Given the description of an element on the screen output the (x, y) to click on. 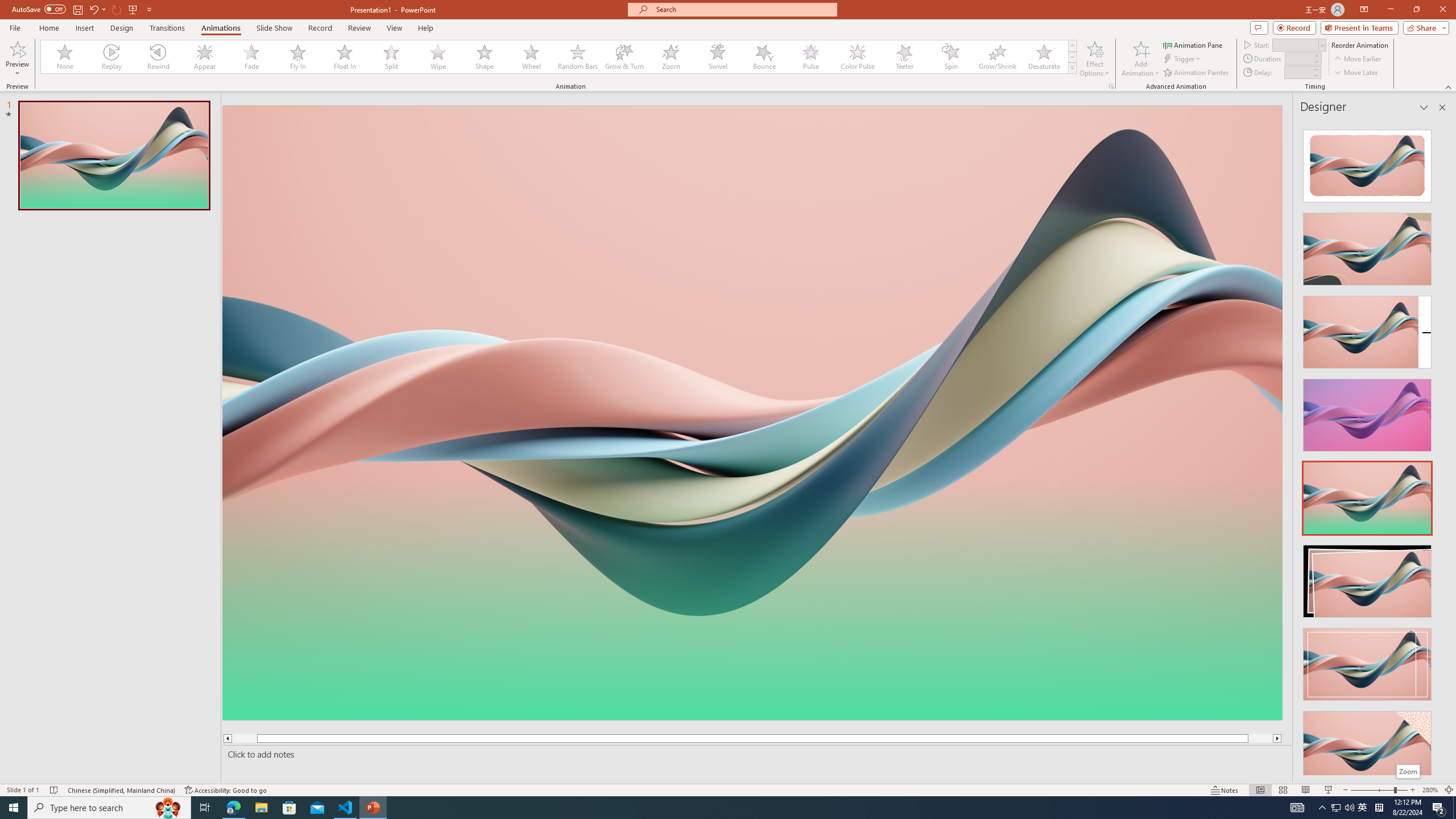
Accessibility Checker Accessibility: Good to go (226, 790)
Trigger (1182, 58)
Zoom 280% (1430, 790)
AutomationID: AnimationGallery (558, 56)
Move Later (1355, 72)
Swivel (717, 56)
Decorative Locked (752, 579)
